Given the description of an element on the screen output the (x, y) to click on. 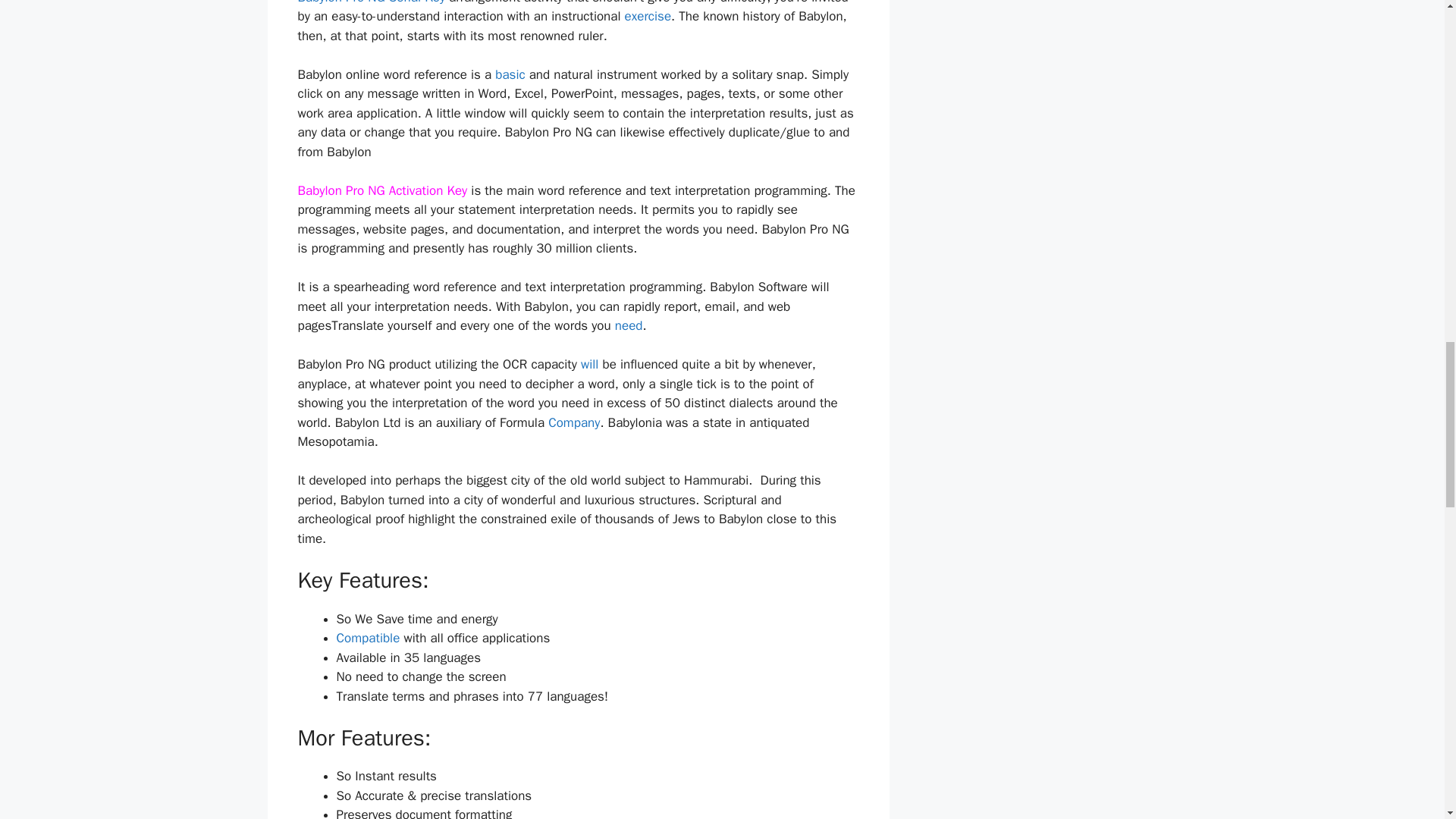
exercise (647, 16)
need (628, 325)
Company (573, 422)
Compatible (368, 637)
Babylon Pro NG Serial Key (371, 2)
will (589, 364)
basic (509, 74)
